Given the description of an element on the screen output the (x, y) to click on. 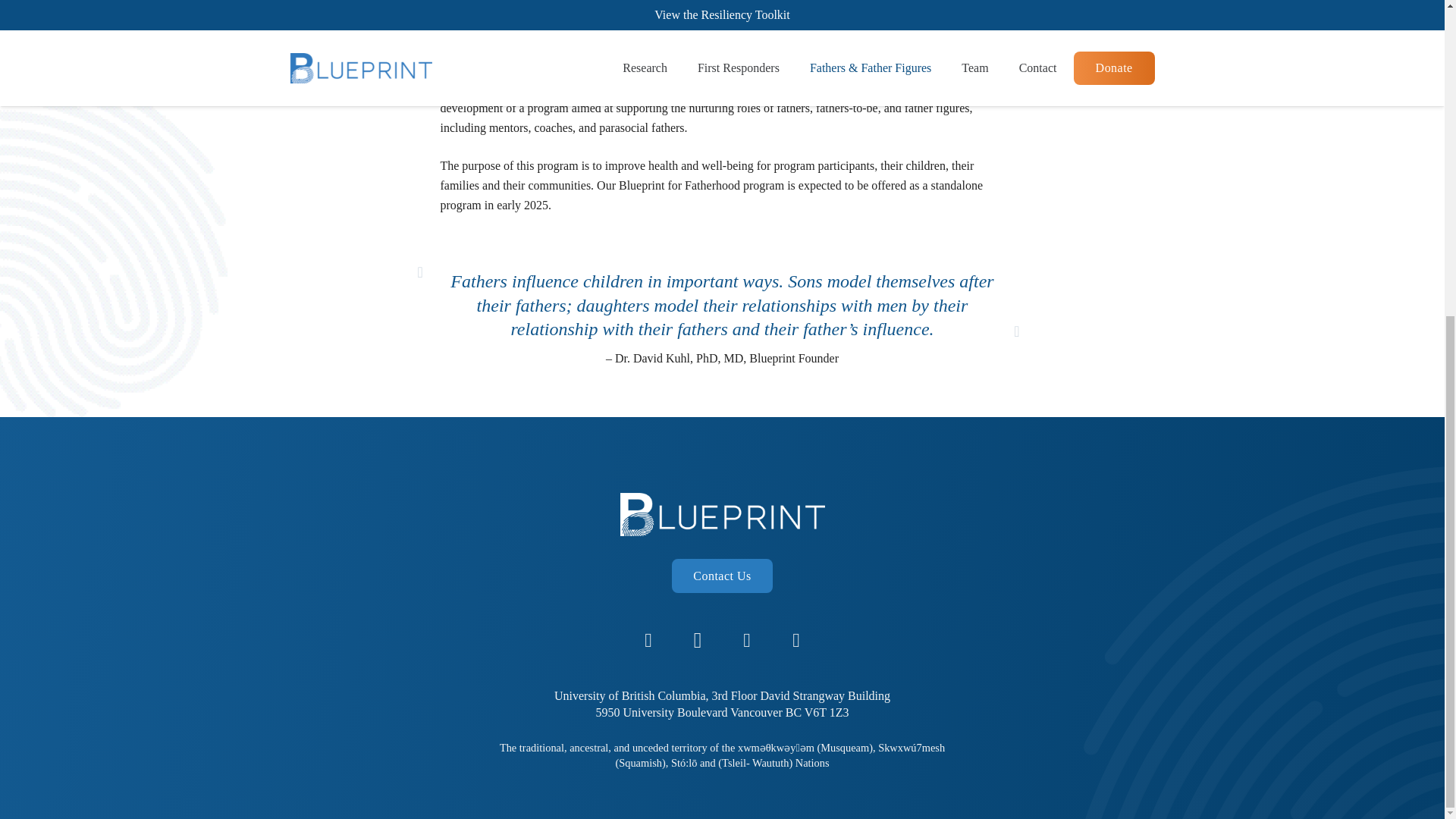
Instagram (697, 132)
Facebook (647, 132)
LinkedIn (746, 132)
Contact Us (722, 67)
YouTube (796, 132)
